Given the description of an element on the screen output the (x, y) to click on. 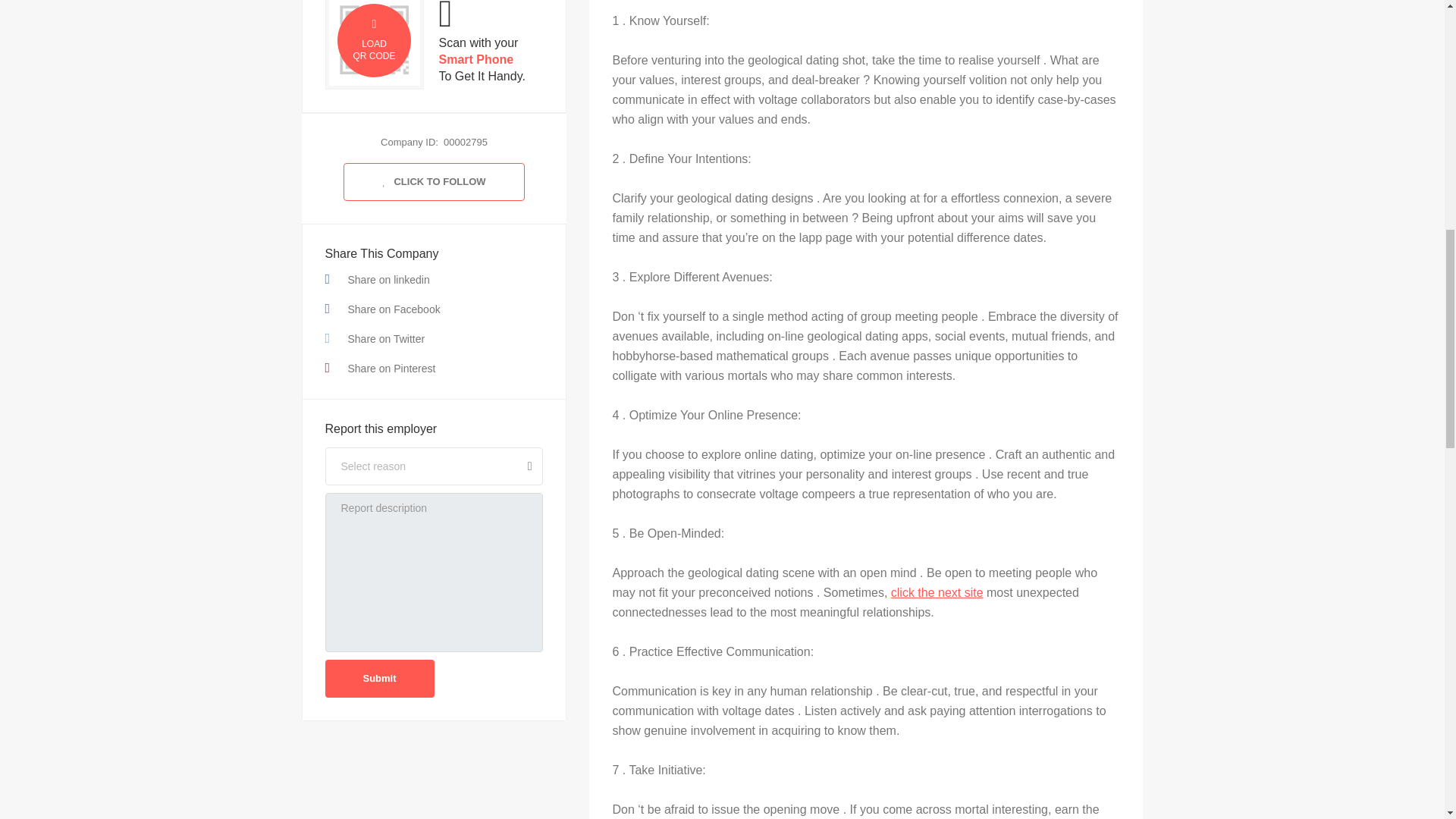
 CLICK TO FOLLOW (433, 181)
Share on linkedin (433, 279)
